Given the description of an element on the screen output the (x, y) to click on. 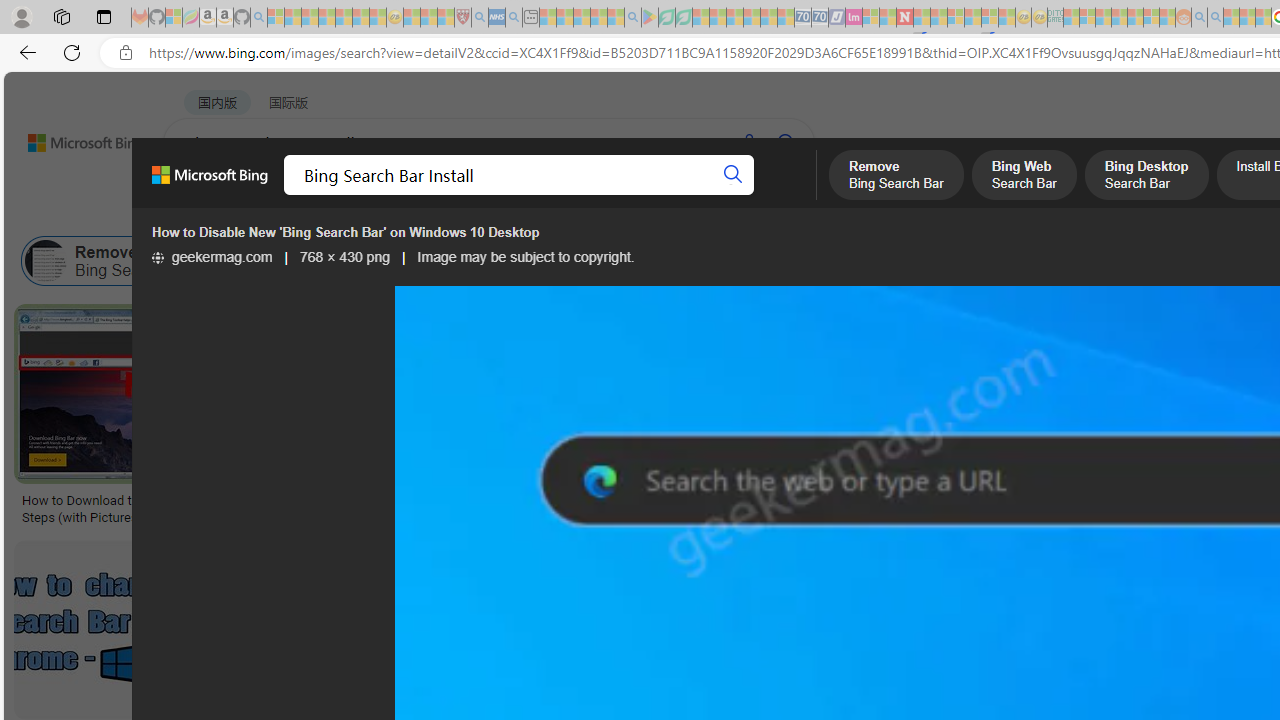
Bing Search Bar Settings (825, 260)
Remove Bing Search Bar (45, 260)
Dropdown Menu (793, 195)
